Given the description of an element on the screen output the (x, y) to click on. 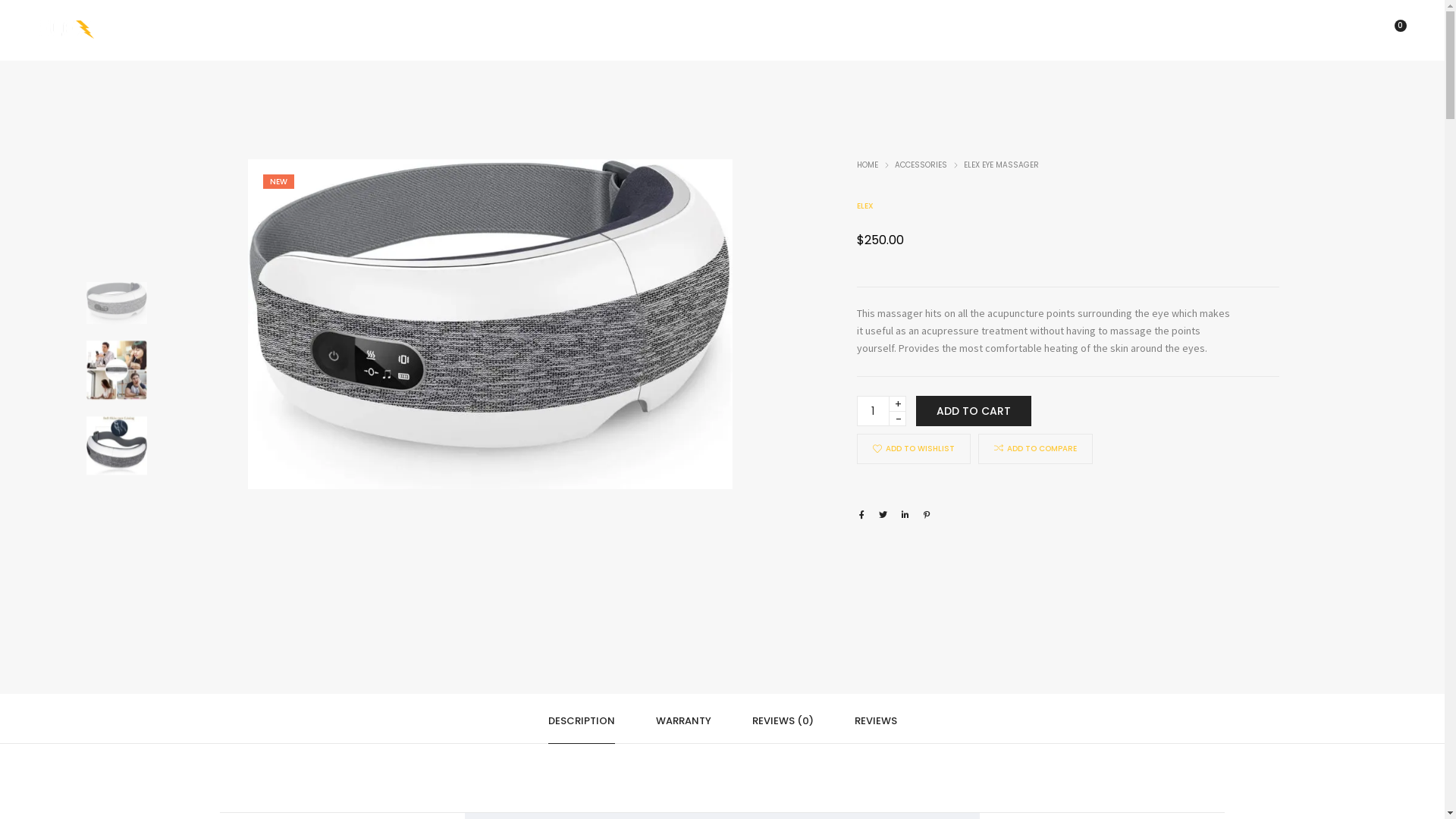
Home Element type: text (499, 30)
REVIEWS (0) Element type: text (782, 718)
Add to Wishlist Element type: hover (876, 448)
Australia's #1 massage chairs seller Element type: hover (65, 31)
ELEX%20EYE%20Massager Element type: hover (882, 514)
Reviews Element type: text (674, 30)
ADD TO CART Element type: text (973, 410)
Products Element type: text (579, 30)
ELEX Element type: text (864, 205)
Contact Us Element type: text (867, 30)
WARRANTY Element type: text (682, 718)
DESCRIPTION Element type: text (580, 718)
ADD TO COMPARE Element type: text (1035, 448)
ACCESSORIES Element type: text (920, 164)
Finance Element type: text (765, 30)
ADD TO WISHLIST Element type: text (913, 448)
Add to Compare Element type: hover (998, 447)
REVIEWS Element type: text (874, 718)
Blog Element type: text (949, 30)
ELEX%20EYE%20Massager Element type: hover (926, 514)
eye-massager Element type: hover (489, 324)
HOME Element type: text (867, 164)
ELEX%20EYE%20Massager Element type: hover (905, 514)
ELEX%20EYE%20Massager Element type: hover (861, 514)
